Given the description of an element on the screen output the (x, y) to click on. 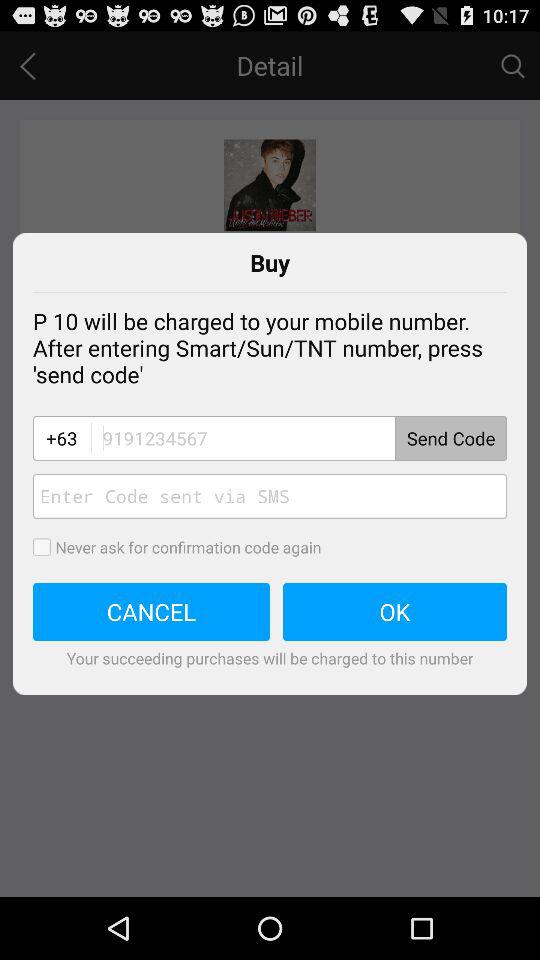
open the item below the never ask for app (395, 611)
